Given the description of an element on the screen output the (x, y) to click on. 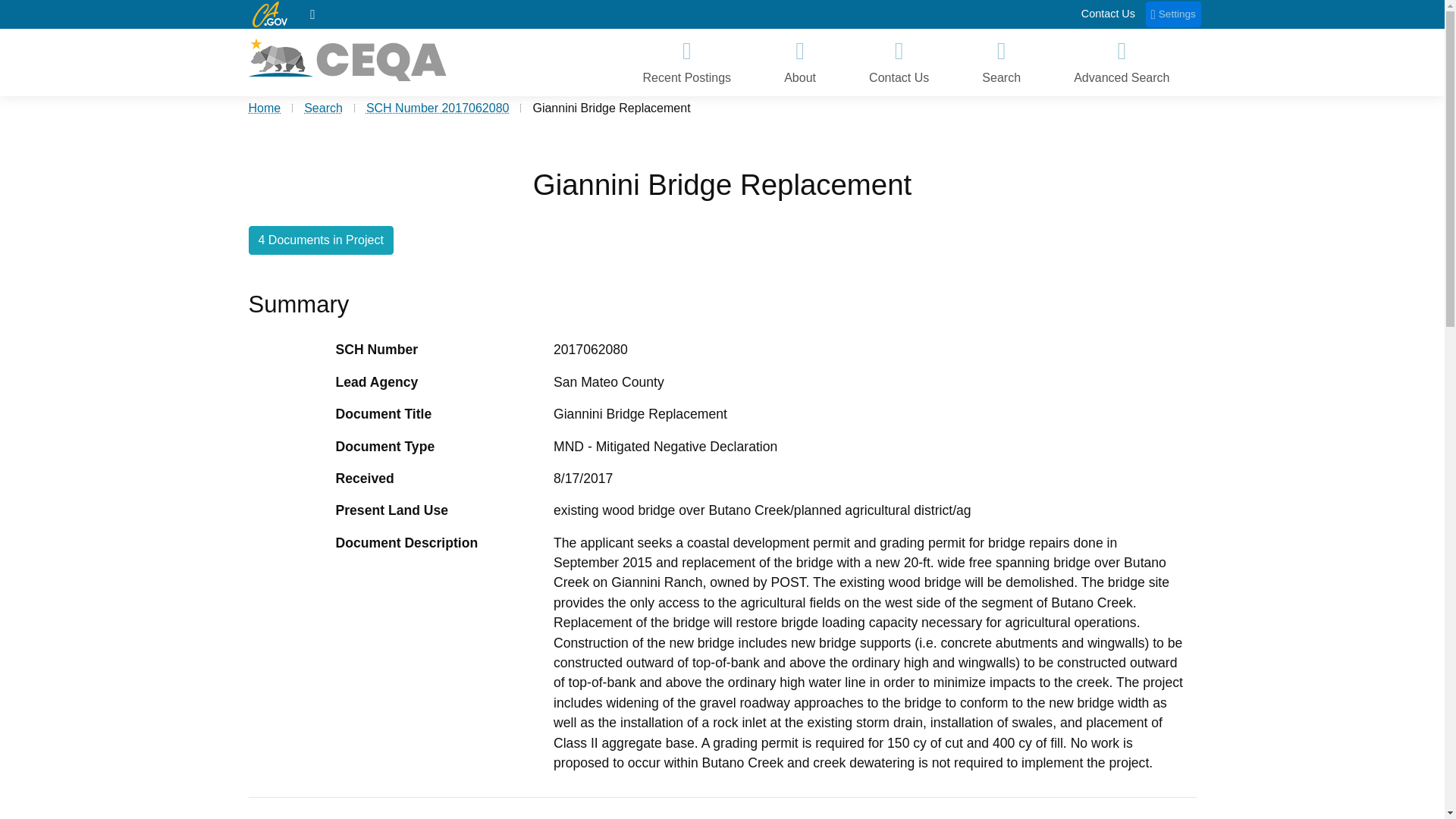
Advanced Search (1120, 62)
SCH Number 2017062080 (437, 107)
Contact Us (899, 62)
Recent Postings (686, 62)
CA.gov (268, 14)
About (800, 62)
Home (312, 14)
Contact Us (1108, 13)
Search (323, 107)
Home (264, 107)
Search (1000, 62)
4 Documents in Project (320, 240)
Settings (1173, 14)
